Given the description of an element on the screen output the (x, y) to click on. 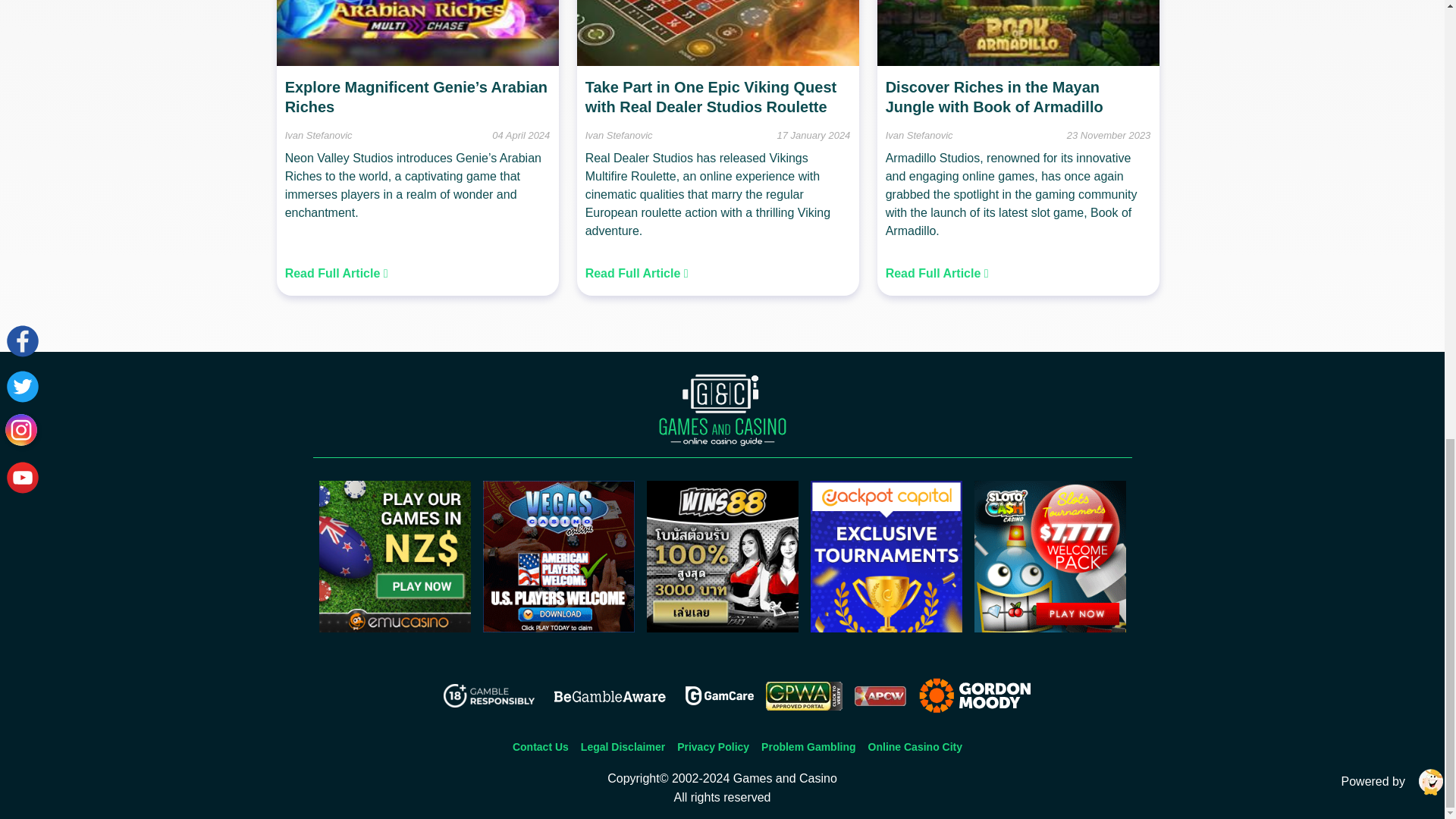
EmuCasino (394, 627)
Jackpot Capital (884, 627)
Wins88 Casino (721, 627)
Vegas Casino Online (557, 627)
Games and Casinos - online casino guide (722, 409)
Sloto'Cash Casino (1049, 627)
